Given the description of an element on the screen output the (x, y) to click on. 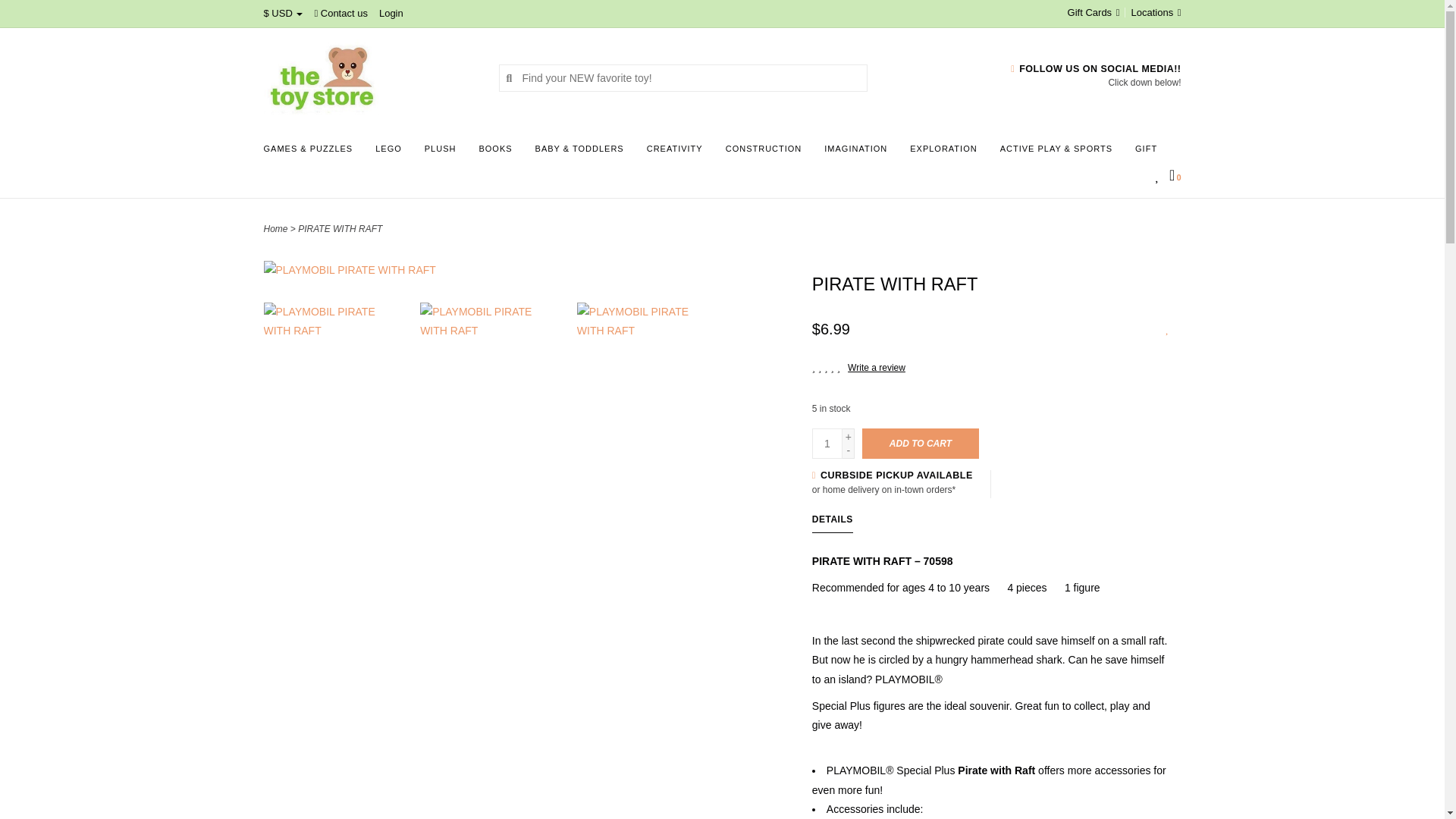
LEGO (392, 152)
My account (390, 12)
THE TOY STORE (369, 77)
1 (827, 443)
Currency (282, 12)
Contact us (341, 12)
Locations (1152, 12)
Login (390, 12)
